Given the description of an element on the screen output the (x, y) to click on. 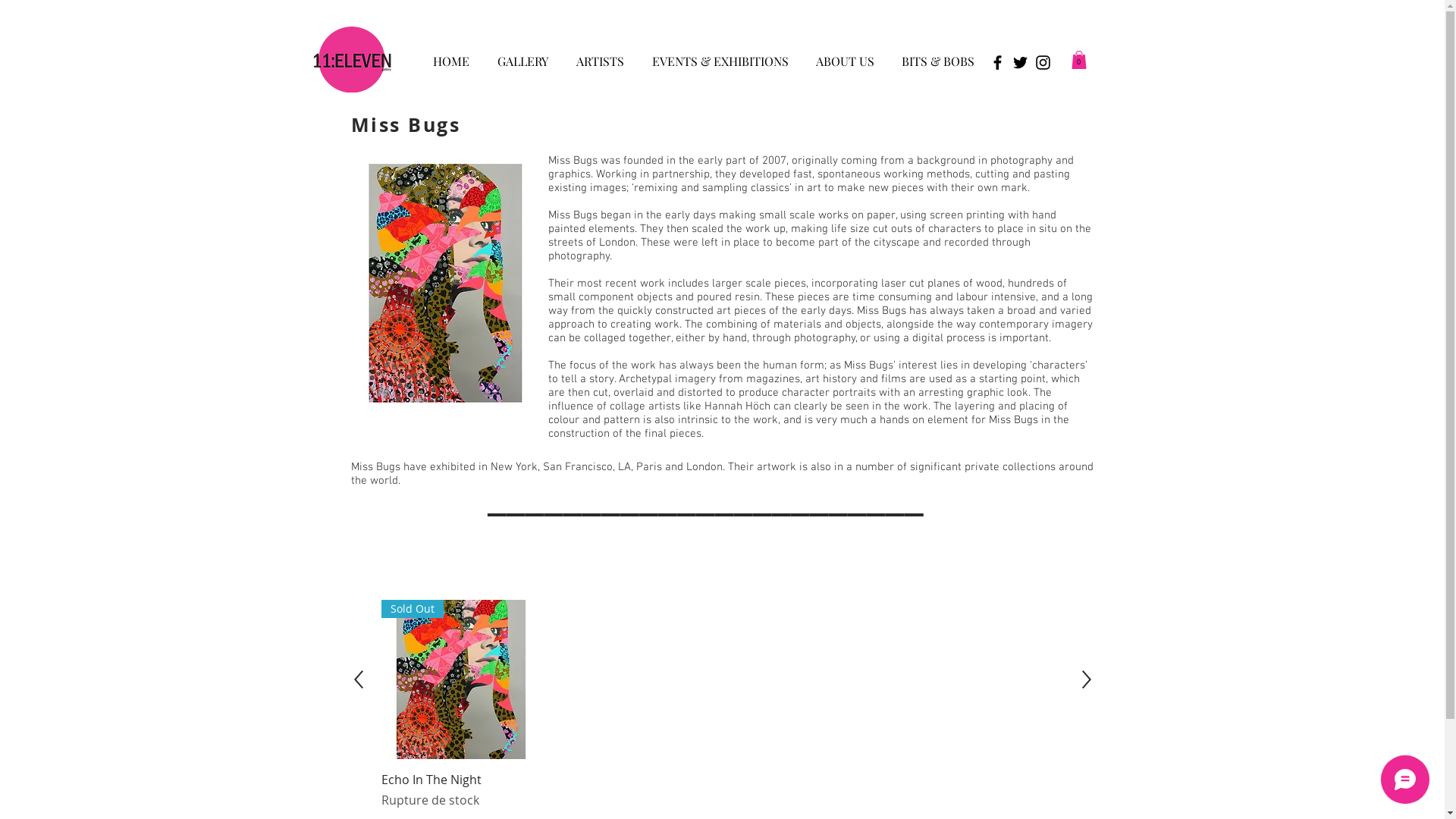
0 Element type: text (1077, 59)
HOME Element type: text (450, 54)
ARTISTS Element type: text (600, 54)
Echo In The Night
Rupture de stock Element type: text (459, 790)
Sold Out Element type: text (459, 679)
BITS & BOBS Element type: text (937, 54)
